Given the description of an element on the screen output the (x, y) to click on. 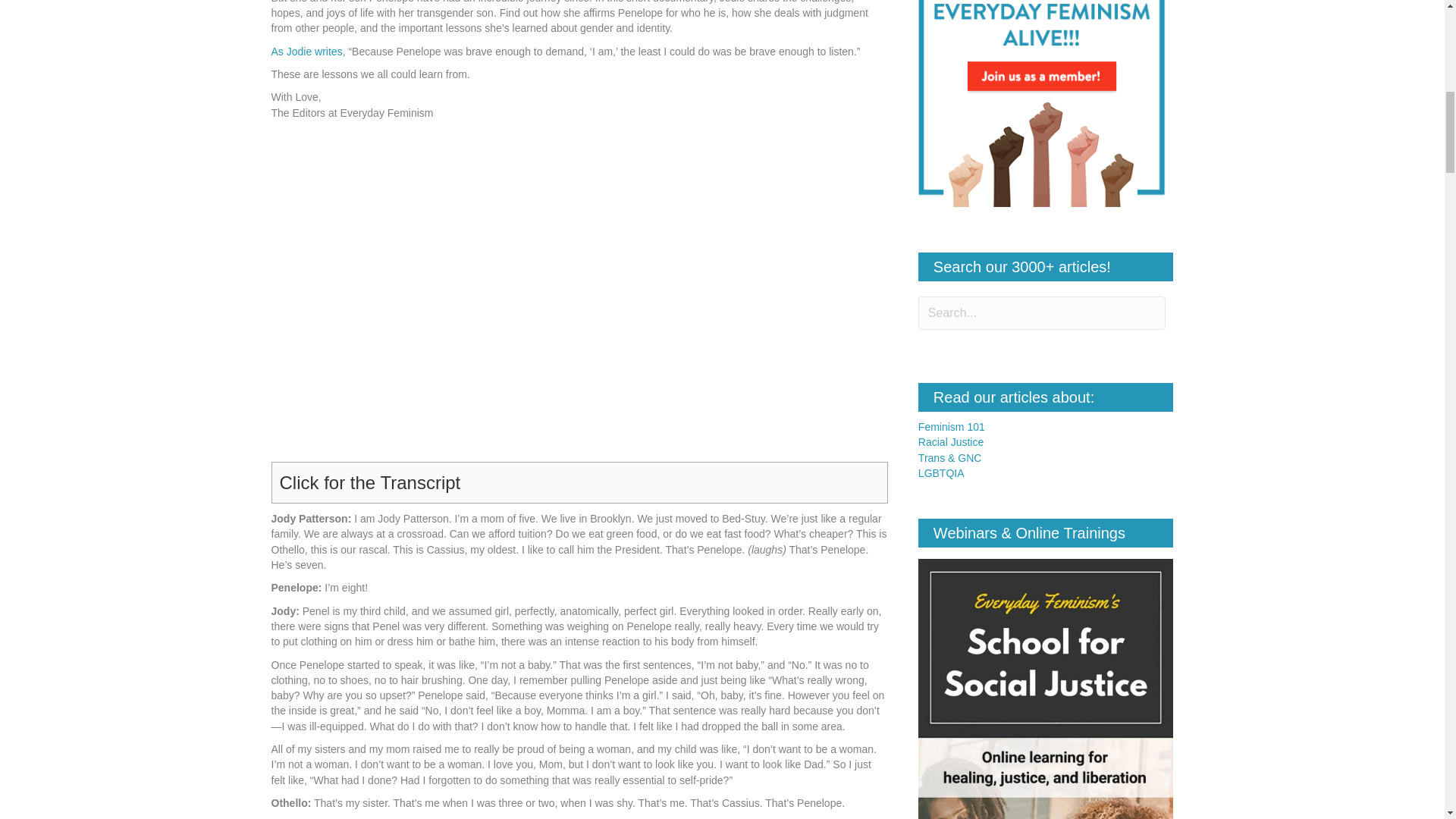
LGBTQIA (940, 472)
Feminism 101 (951, 426)
Racial Justice (951, 441)
As Jodie writes (306, 51)
